Given the description of an element on the screen output the (x, y) to click on. 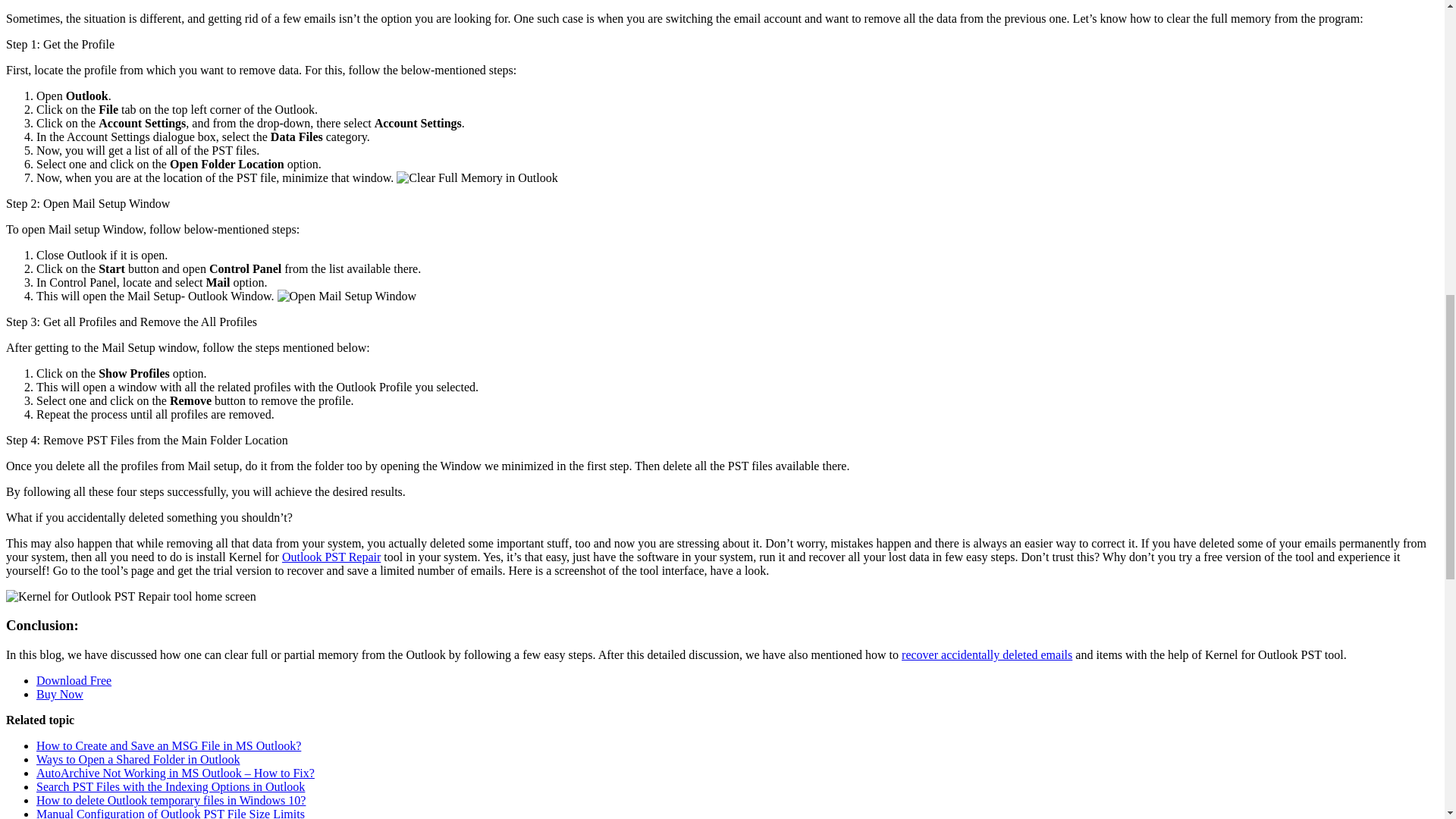
recover accidentally deleted emails (986, 654)
Manual Configuration of Outlook PST File Size Limits (170, 813)
Ways to Open a Shared Folder in Outlook (138, 758)
Download Free (74, 680)
How to Create and Save an MSG File in MS Outlook? (168, 745)
Search PST Files with the Indexing Options in Outlook (170, 786)
Buy Now (59, 694)
Outlook PST Repair (331, 556)
How to delete Outlook temporary files in Windows 10? (170, 799)
